Given the description of an element on the screen output the (x, y) to click on. 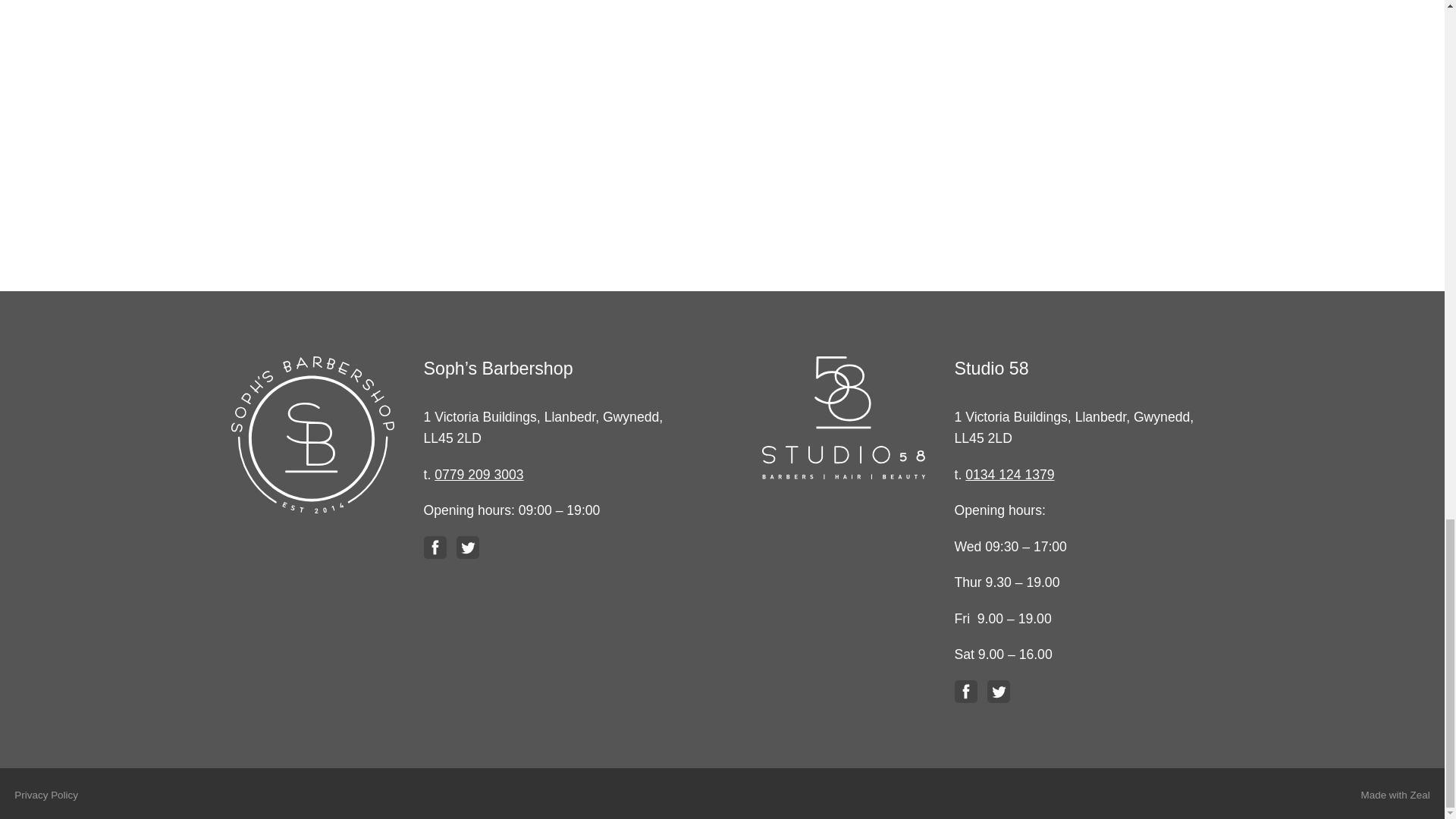
Privacy Policy (46, 794)
0134 124 1379 (1009, 474)
Made with Zeal (1395, 794)
0779 209 3003 (477, 474)
